Given the description of an element on the screen output the (x, y) to click on. 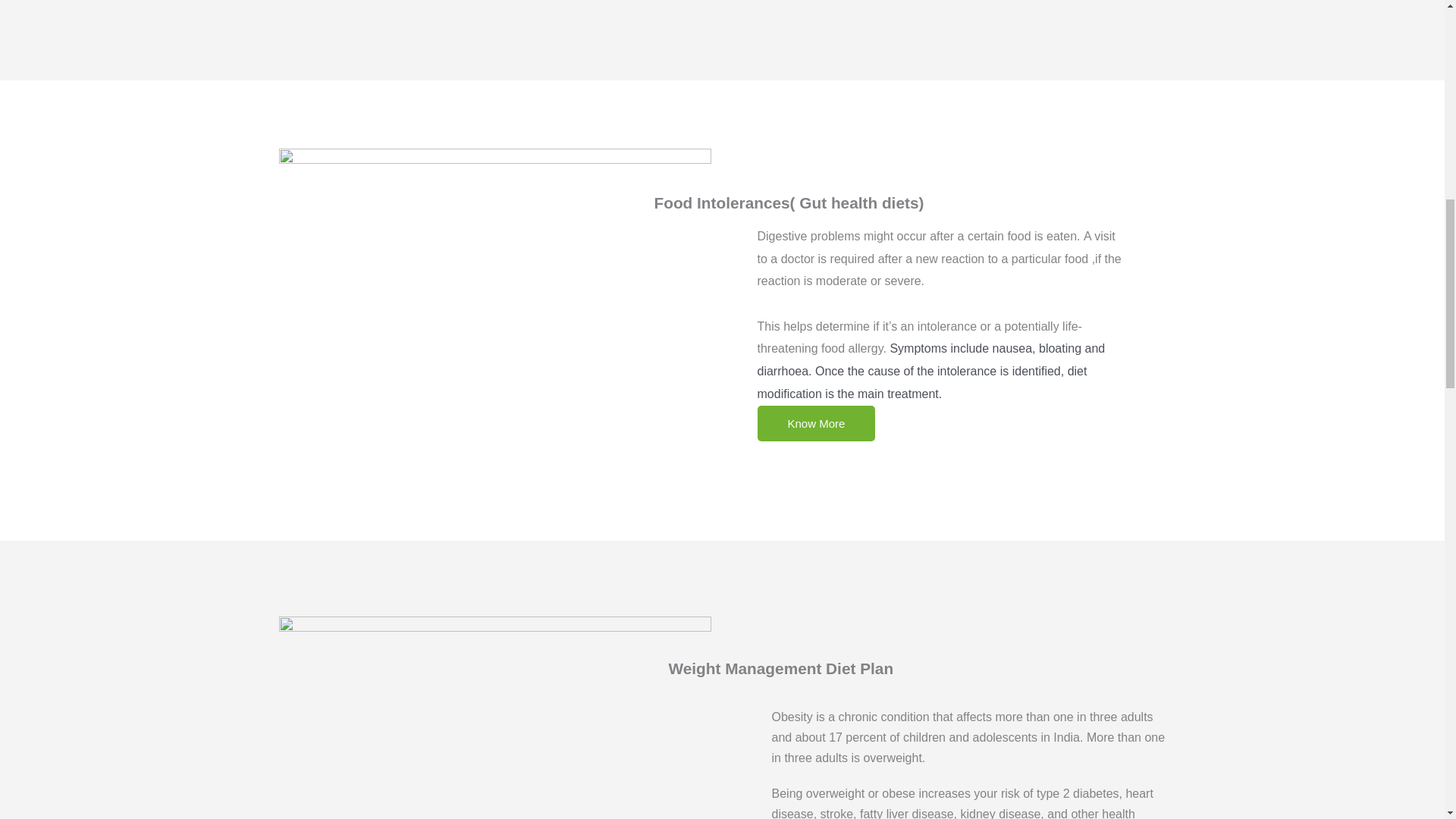
Know More (816, 423)
